Given the description of an element on the screen output the (x, y) to click on. 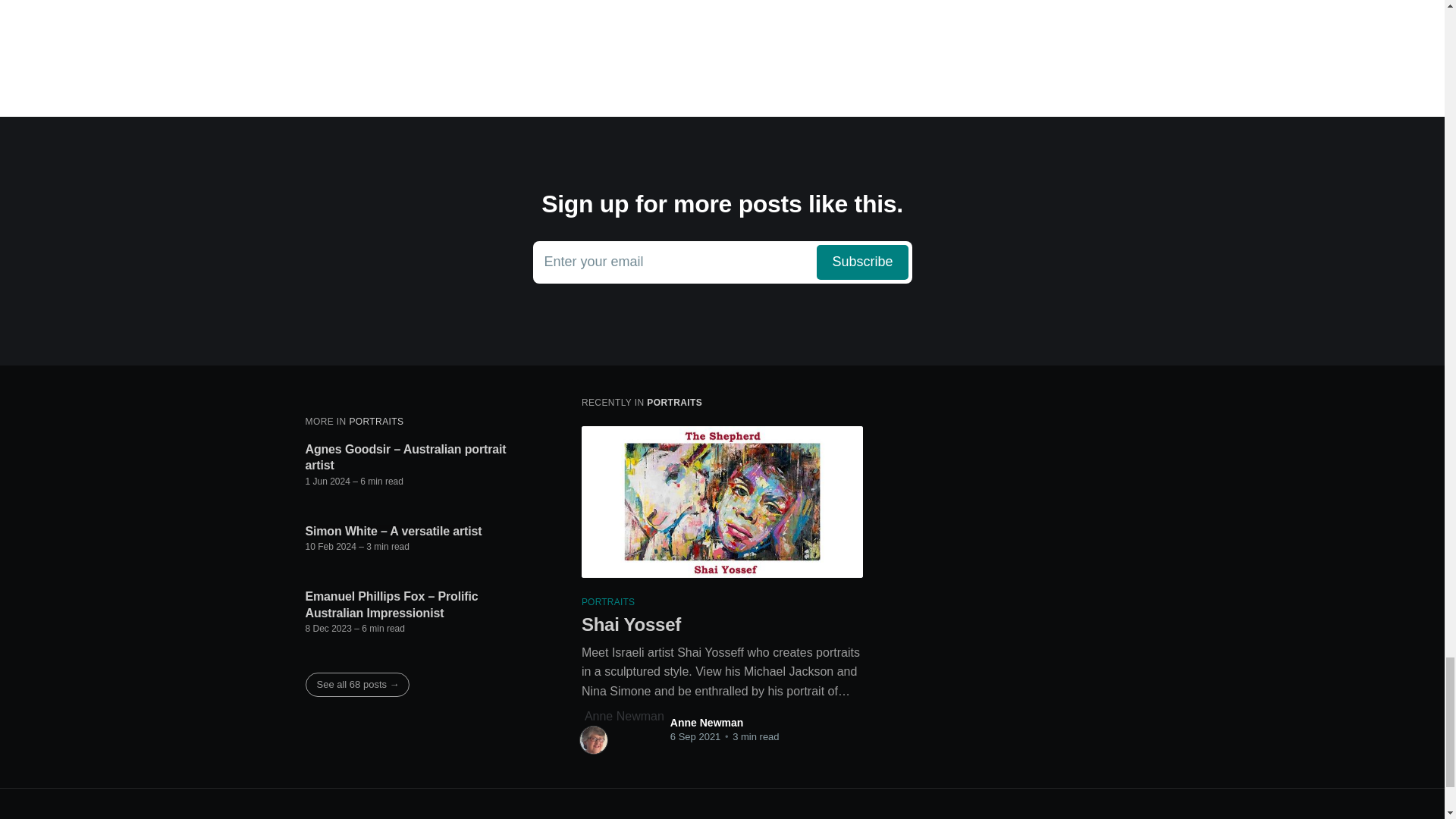
PORTRAITS (673, 402)
Anne Newman (705, 722)
PORTRAITS (376, 421)
